Given the description of an element on the screen output the (x, y) to click on. 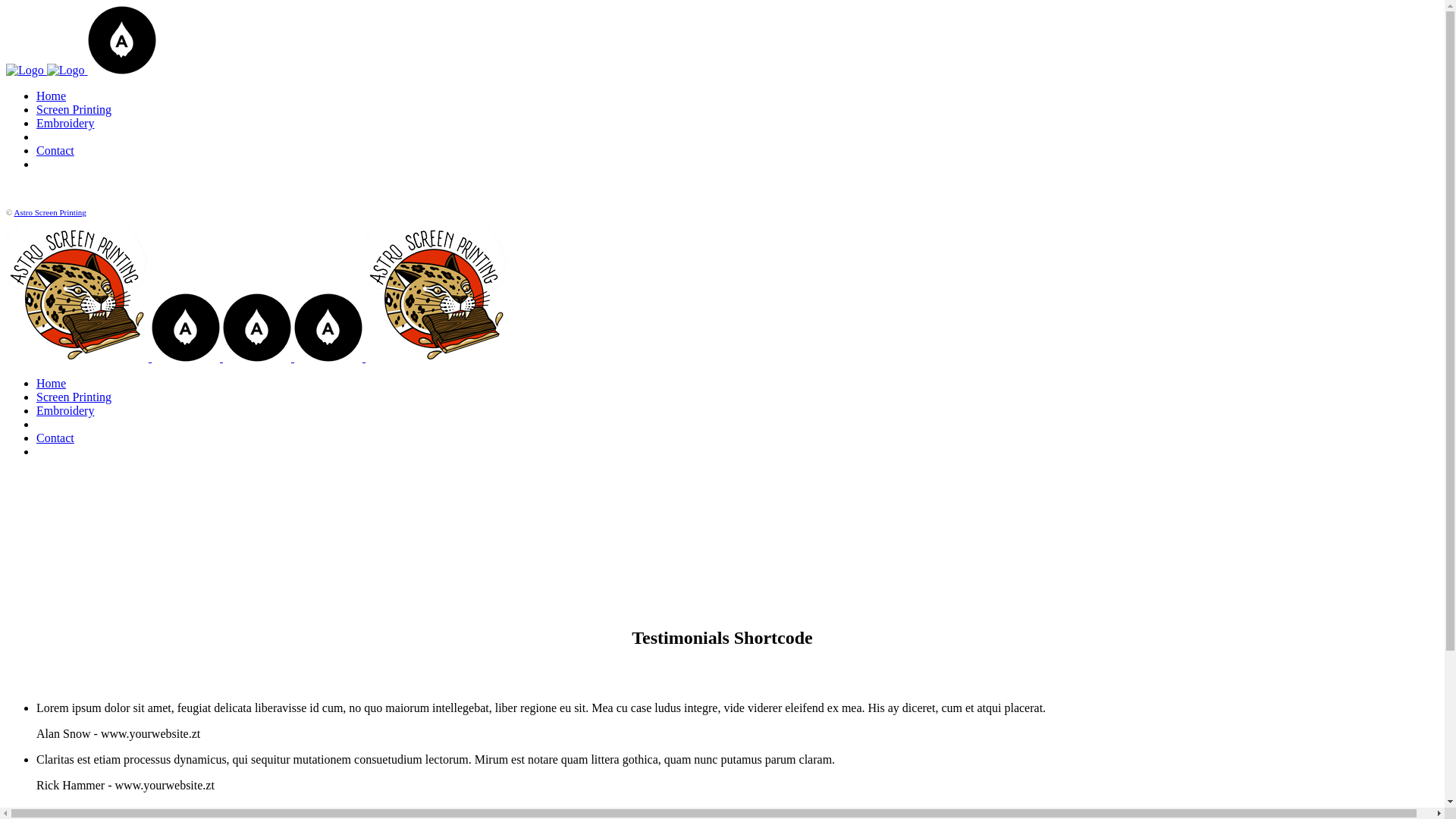
Astro Screen Printing Element type: text (50, 211)
Screen Printing Element type: text (73, 396)
Screen Printing Element type: text (73, 109)
Home Element type: text (50, 95)
Embroidery Element type: text (65, 122)
Home Element type: text (50, 382)
Contact Element type: text (55, 437)
Embroidery Element type: text (65, 410)
Contact Element type: text (55, 150)
